Given the description of an element on the screen output the (x, y) to click on. 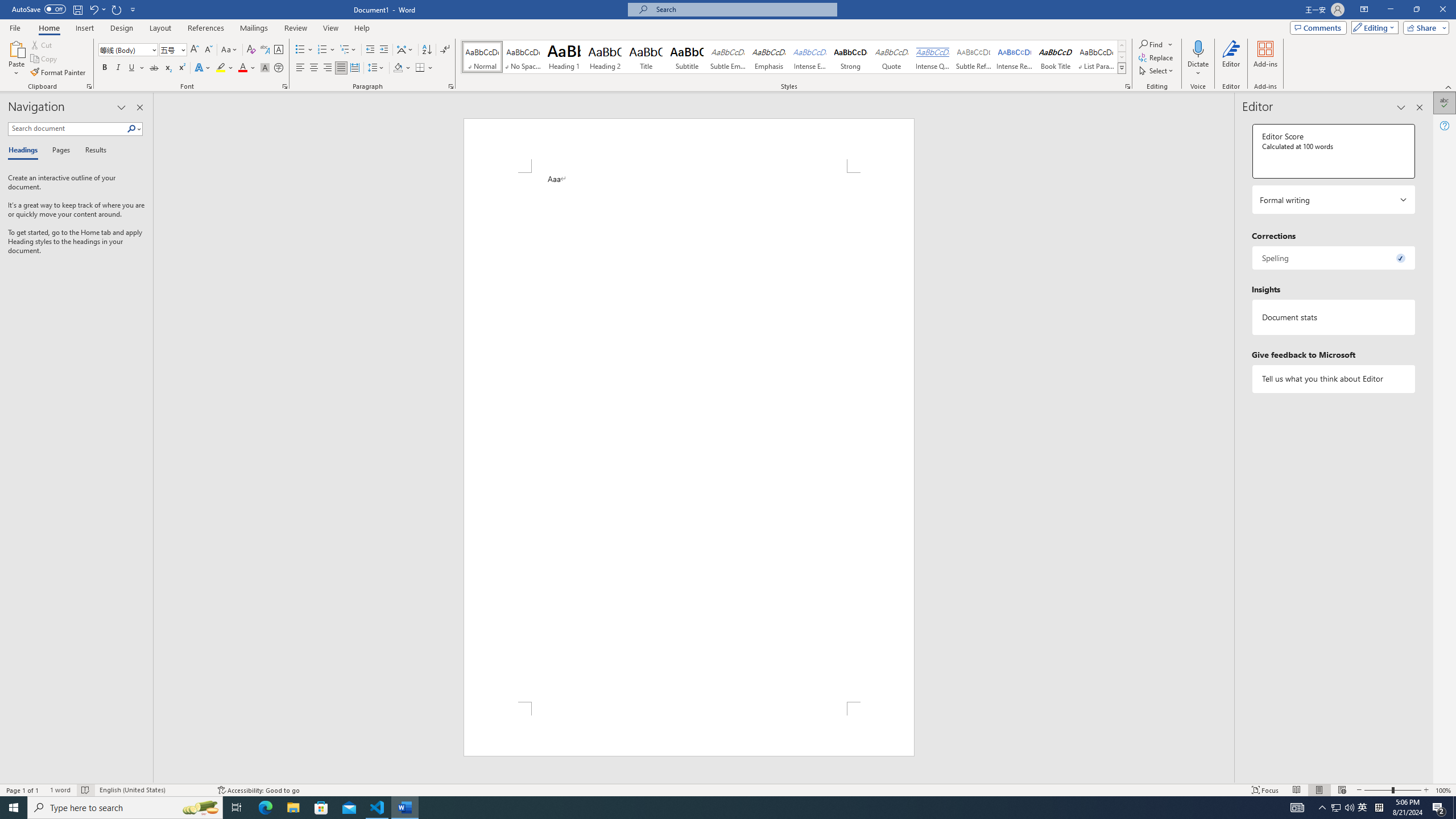
Intense Emphasis (809, 56)
Spelling, 0 issues. Press space or enter to review items. (1333, 257)
Heading 2 (605, 56)
Accessibility Checker Accessibility: Good to go (258, 790)
Sort... (426, 49)
Multilevel List (347, 49)
Page 1 content (688, 436)
Change Case (229, 49)
Font Color (246, 67)
